Given the description of an element on the screen output the (x, y) to click on. 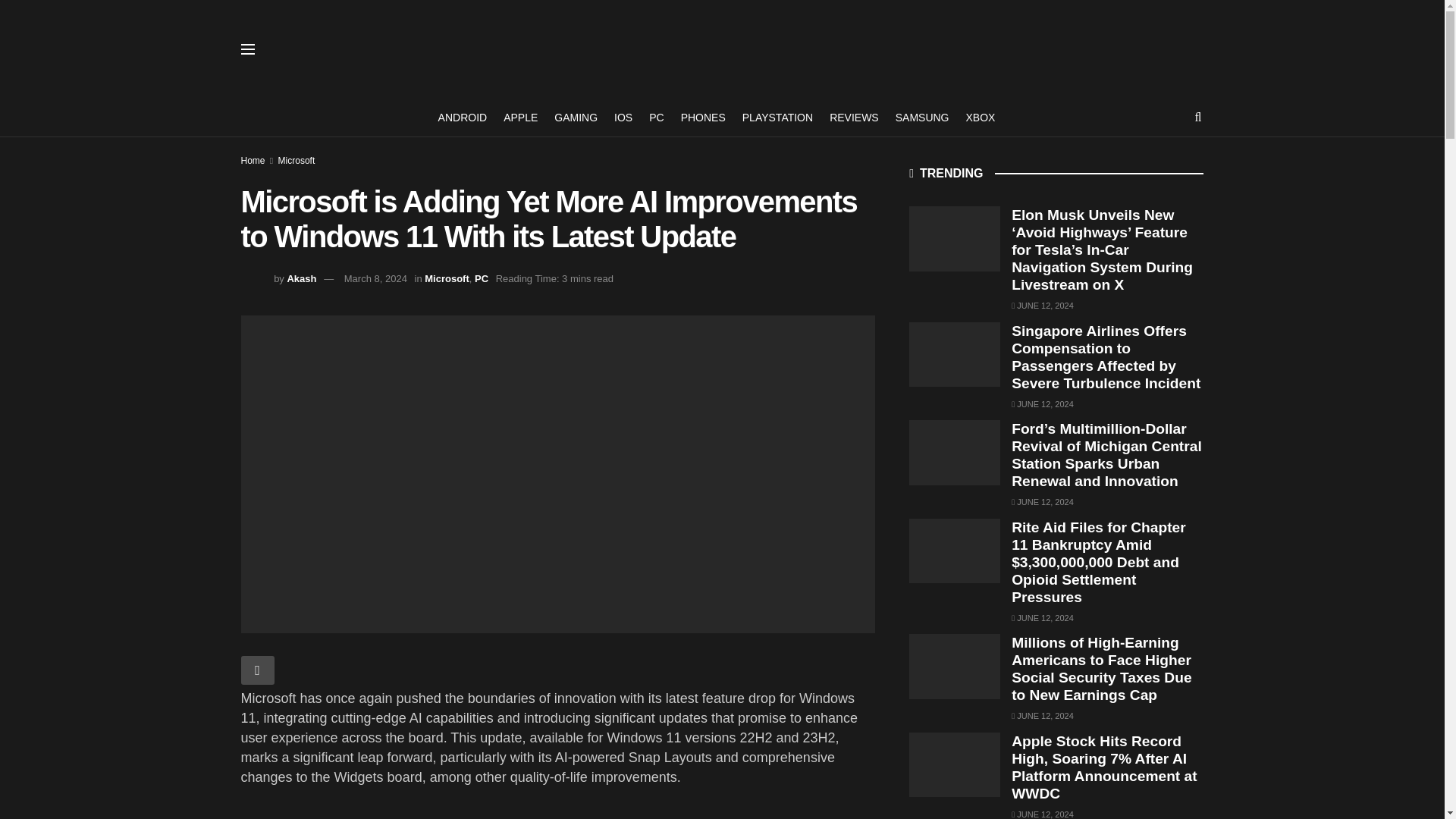
APPLE (520, 117)
PC (480, 278)
REVIEWS (854, 117)
Microsoft (446, 278)
Home (252, 160)
GAMING (575, 117)
Akash (300, 278)
PHONES (703, 117)
March 8, 2024 (375, 278)
PLAYSTATION (777, 117)
